Given the description of an element on the screen output the (x, y) to click on. 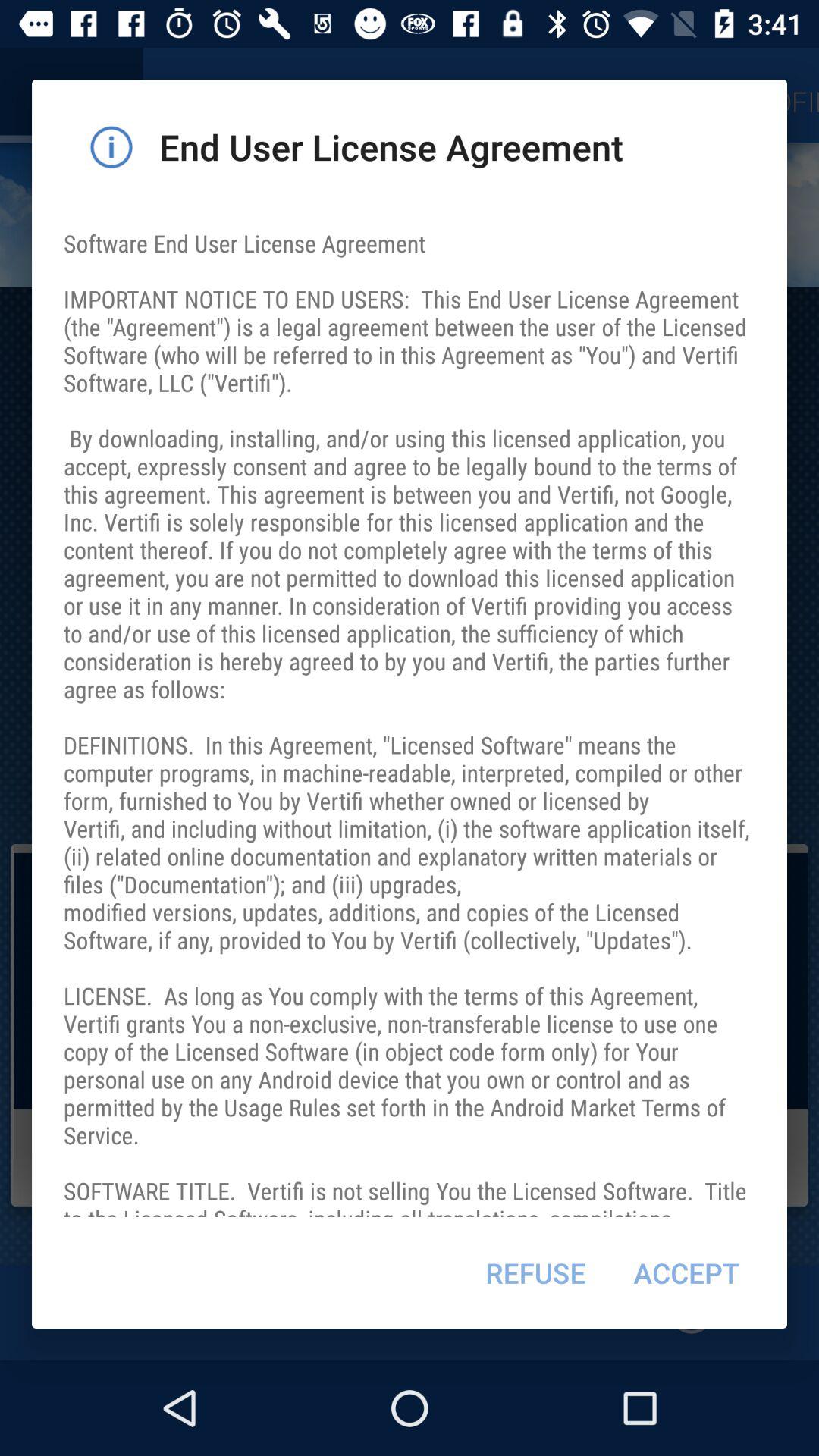
select the item at the bottom right corner (686, 1272)
